Given the description of an element on the screen output the (x, y) to click on. 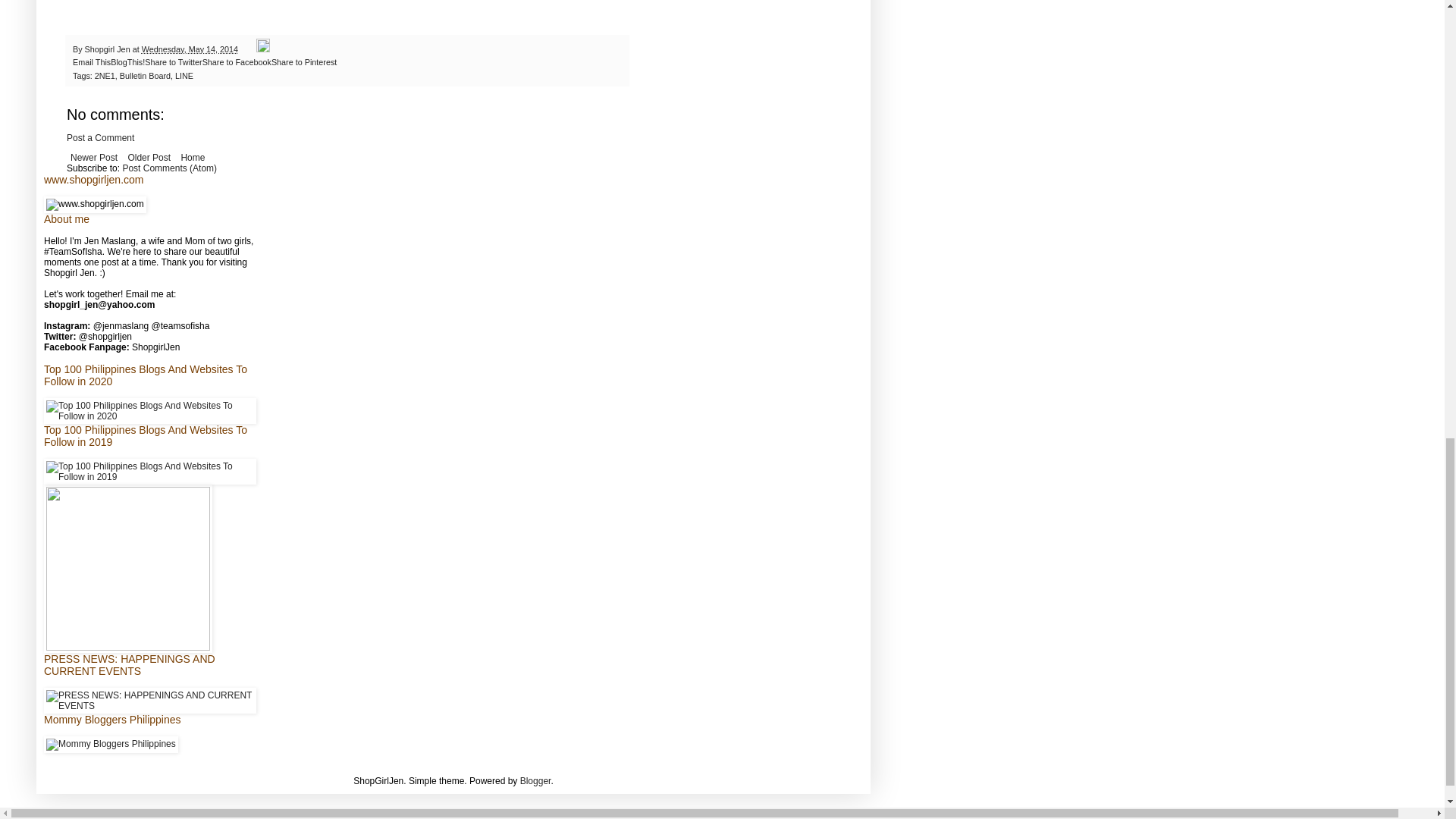
BlogThis! (127, 61)
Bulletin Board (144, 75)
2NE1 (104, 75)
permanent link (189, 49)
Blogger (535, 780)
BlogThis! (127, 61)
Newer Post (93, 157)
Edit Post (262, 49)
Wednesday, May 14, 2014 (189, 49)
Email This (91, 61)
